Given the description of an element on the screen output the (x, y) to click on. 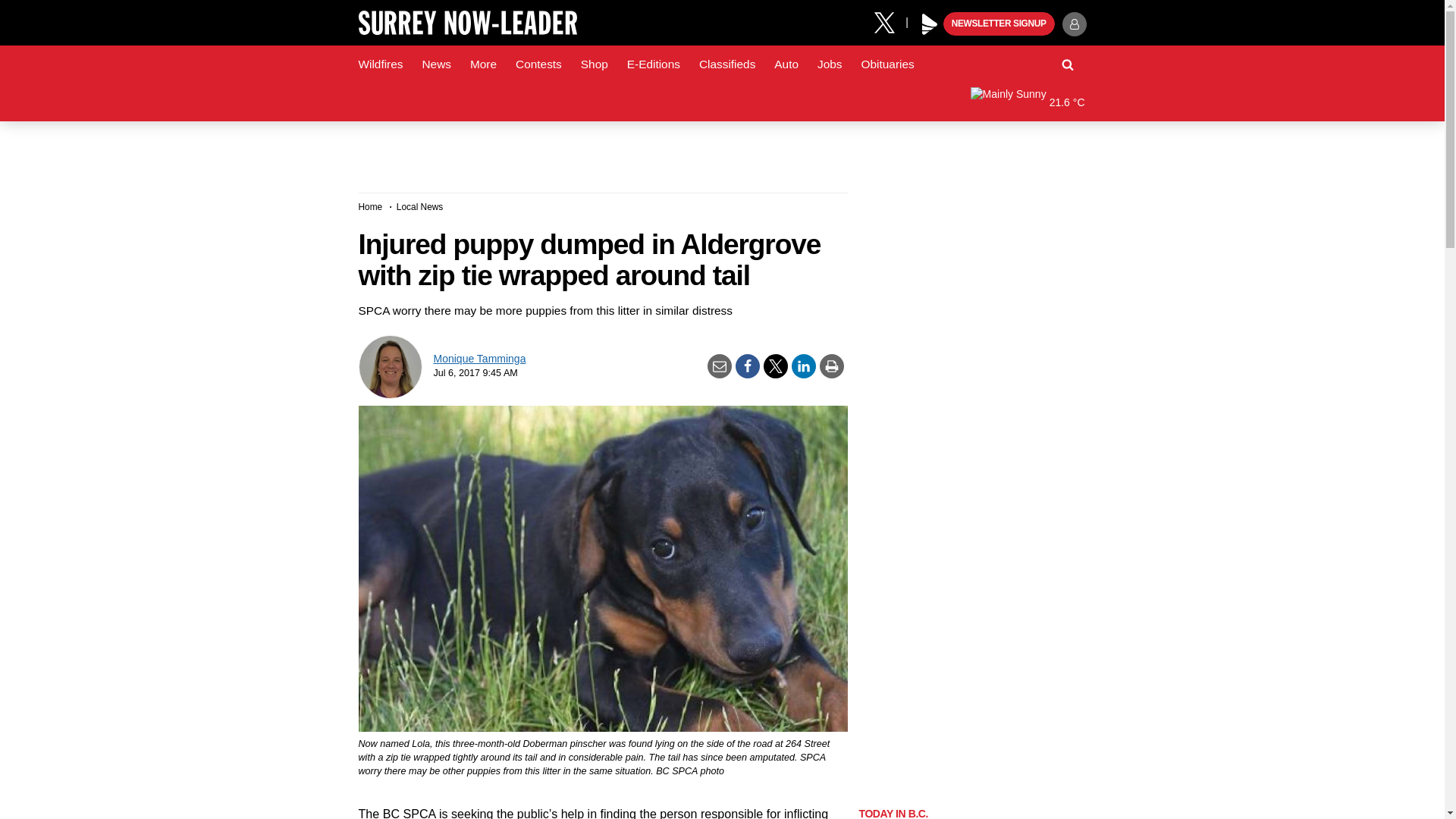
Play (929, 24)
X (889, 21)
News (435, 64)
Wildfires (380, 64)
Black Press Media (929, 24)
NEWSLETTER SIGNUP (998, 24)
